Given the description of an element on the screen output the (x, y) to click on. 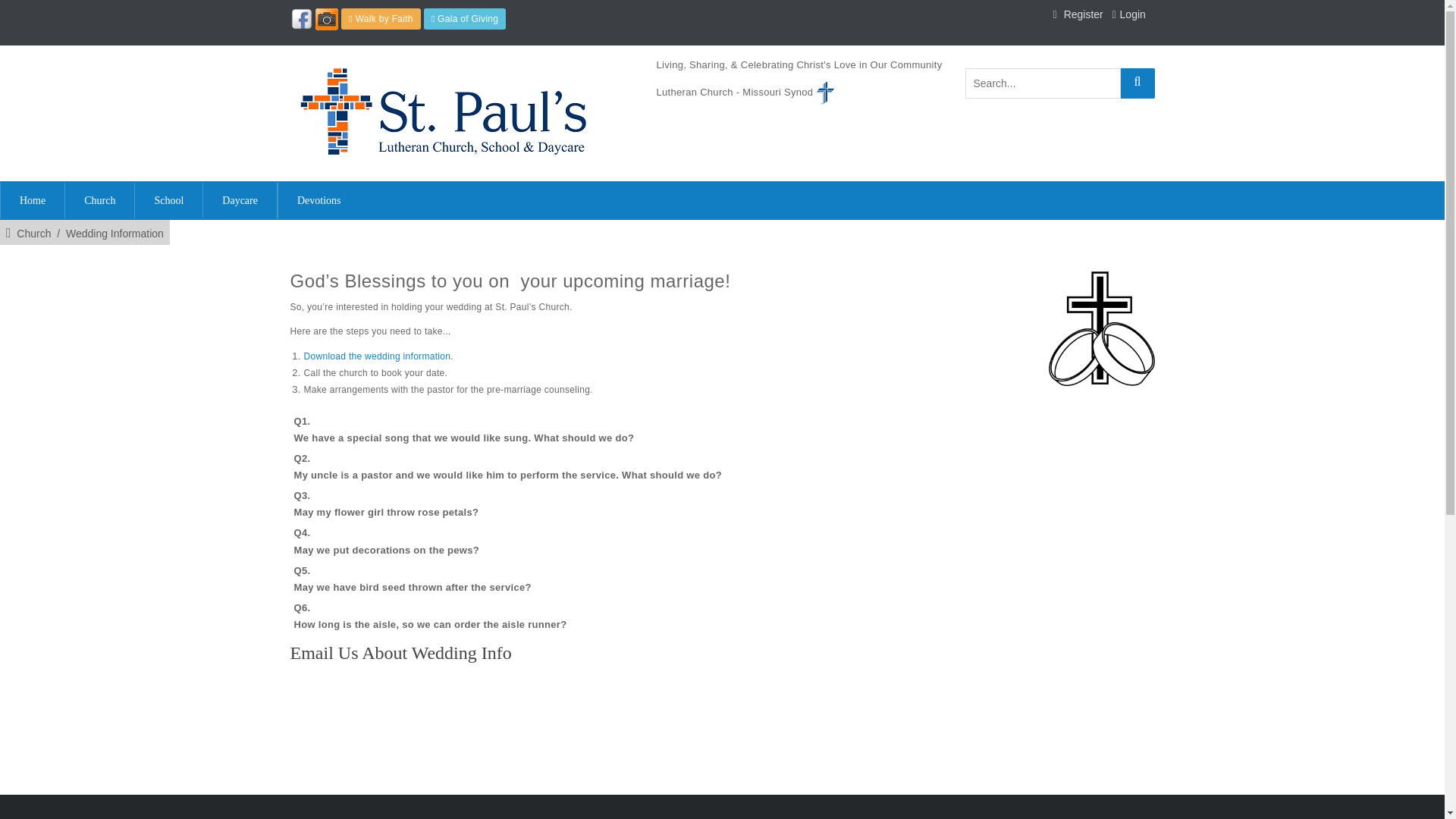
Walk by Faith (380, 18)
Devotions (318, 200)
Search (1137, 82)
Register (1083, 14)
Login (1132, 14)
Home (32, 200)
Gala of Giving (464, 18)
Register (1083, 14)
Marriage Policy (375, 356)
Login (1132, 14)
